Given the description of an element on the screen output the (x, y) to click on. 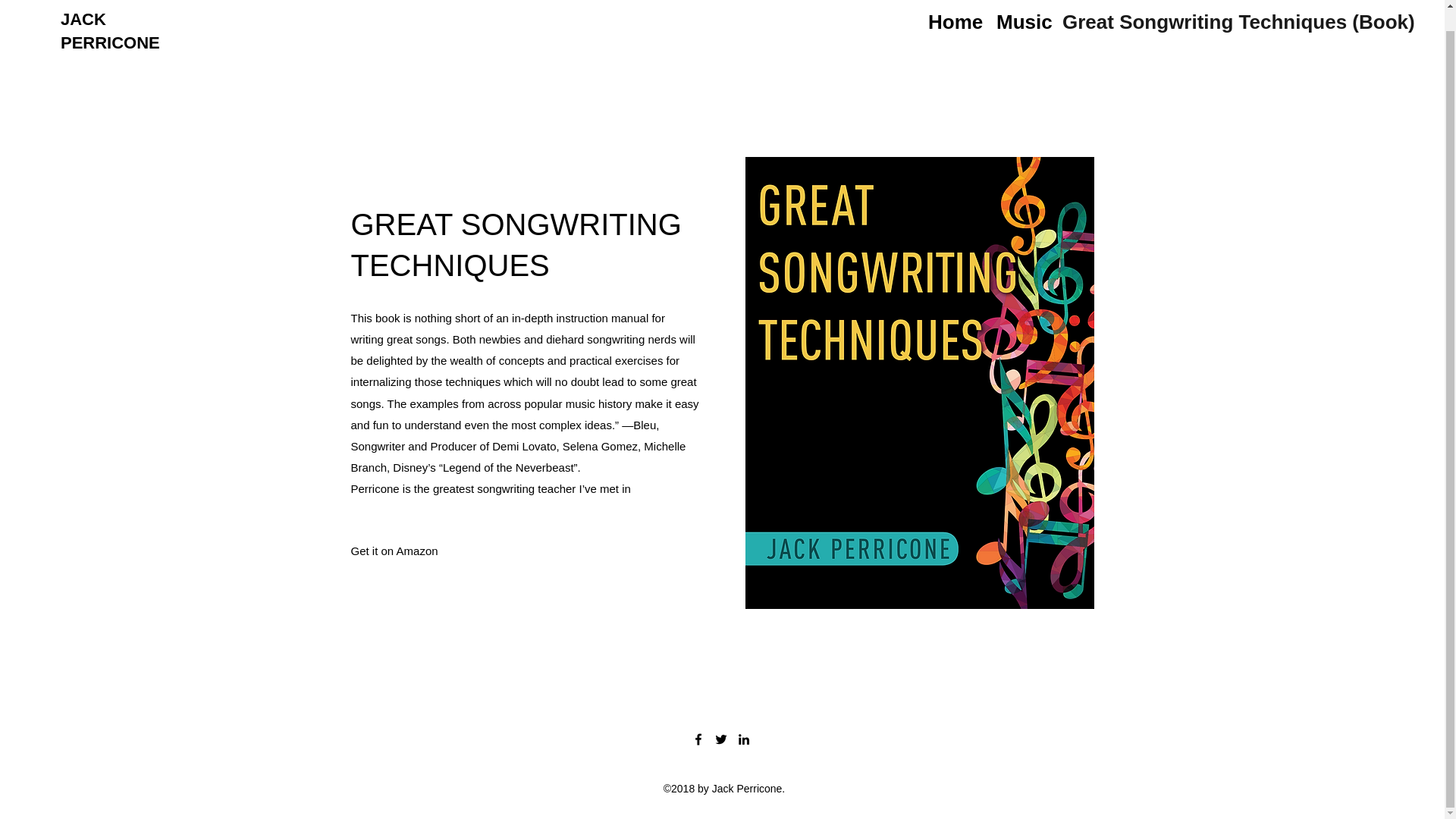
Home (954, 19)
Music (1021, 19)
JACK PERRICONE (110, 30)
Get it on Amazon (394, 550)
